Given the description of an element on the screen output the (x, y) to click on. 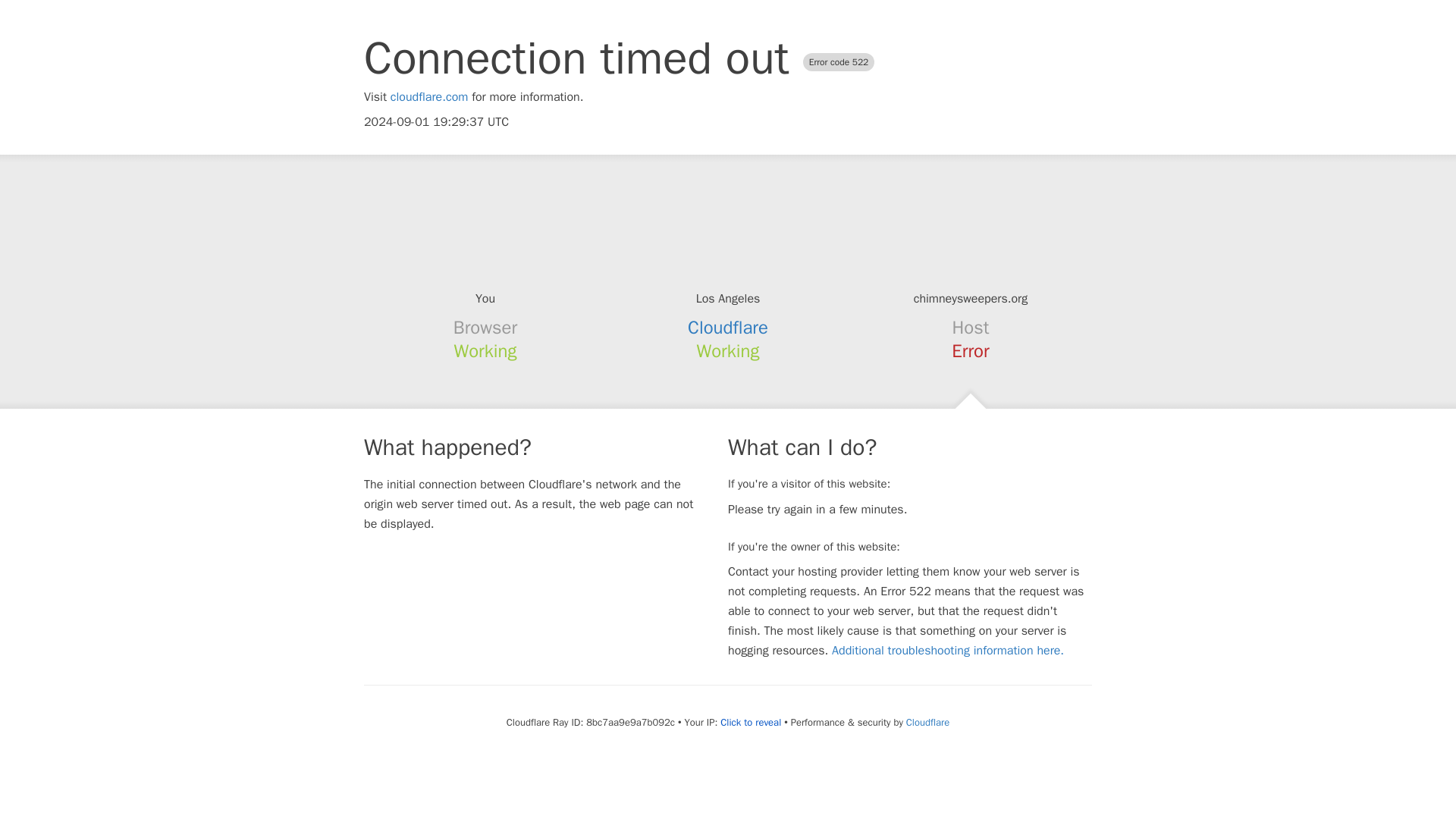
Cloudflare (927, 721)
Cloudflare (727, 327)
cloudflare.com (429, 96)
Additional troubleshooting information here. (947, 650)
Click to reveal (750, 722)
